Given the description of an element on the screen output the (x, y) to click on. 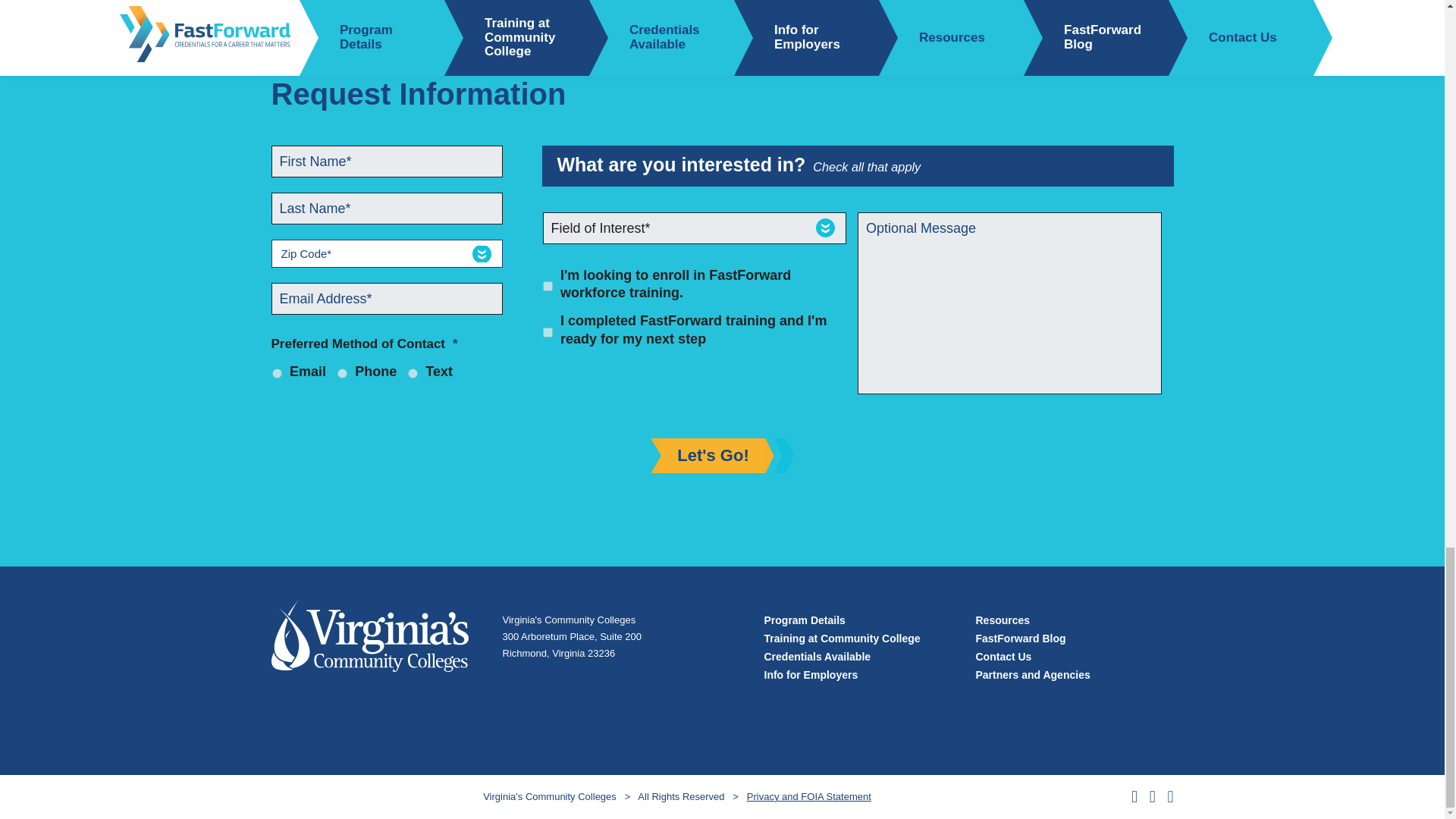
Program Details (804, 620)
Let's Go! (712, 455)
Training at Community College (842, 638)
FastForward Blog (1020, 638)
Privacy and FOIA Statement (808, 796)
I'm looking to enroll in FastForward workforce training. (548, 286)
Contact Us (1002, 656)
Email (275, 373)
Follow us on Facebook (1134, 796)
Fast Forward (369, 643)
Credentials Available (817, 656)
Phone (342, 373)
Resources (1002, 620)
Text (412, 373)
Info for Employers (811, 674)
